Given the description of an element on the screen output the (x, y) to click on. 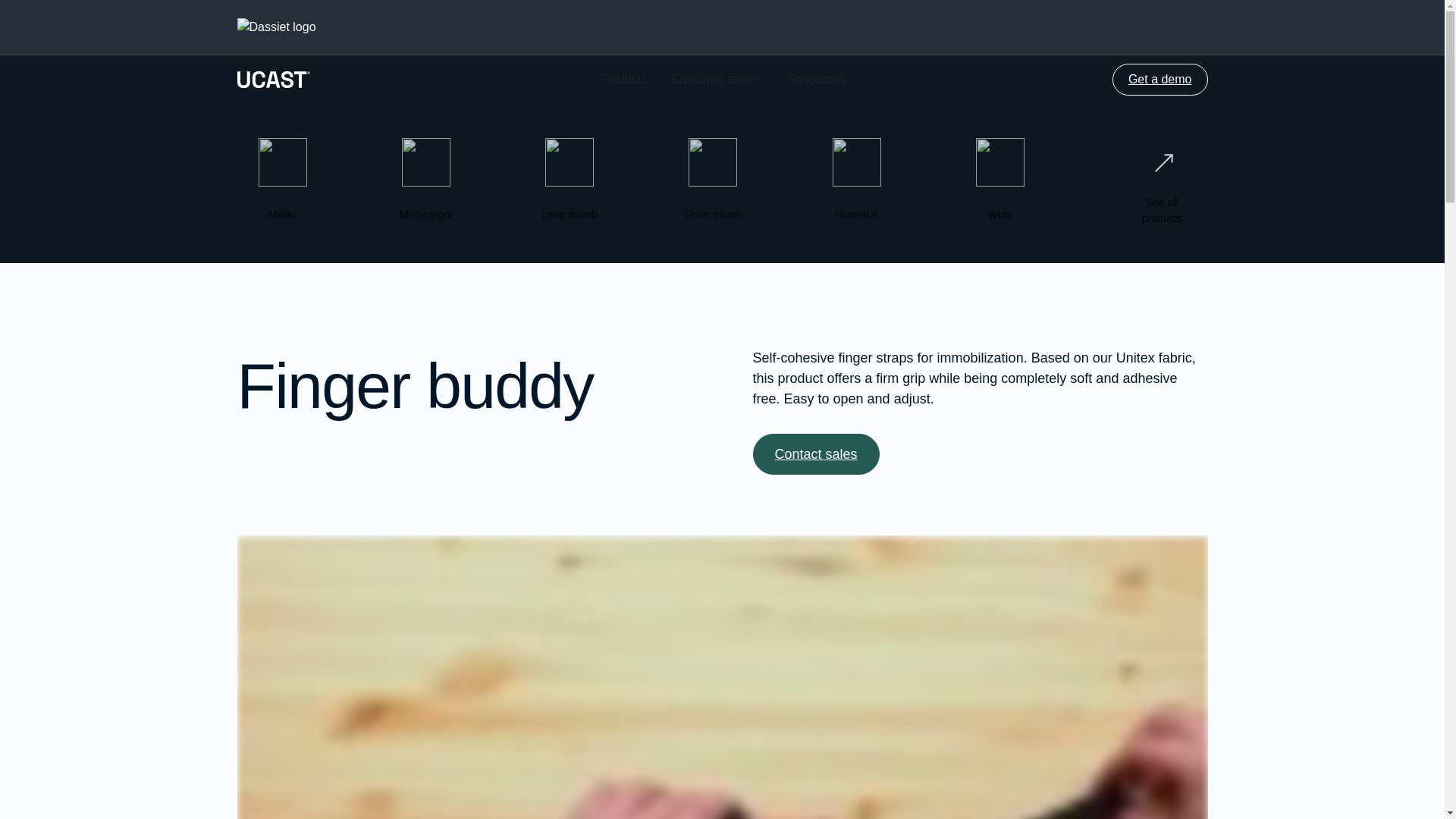
Resources (815, 454)
Contact (815, 79)
Products (1160, 79)
Customer stories (1174, 27)
